Given the description of an element on the screen output the (x, y) to click on. 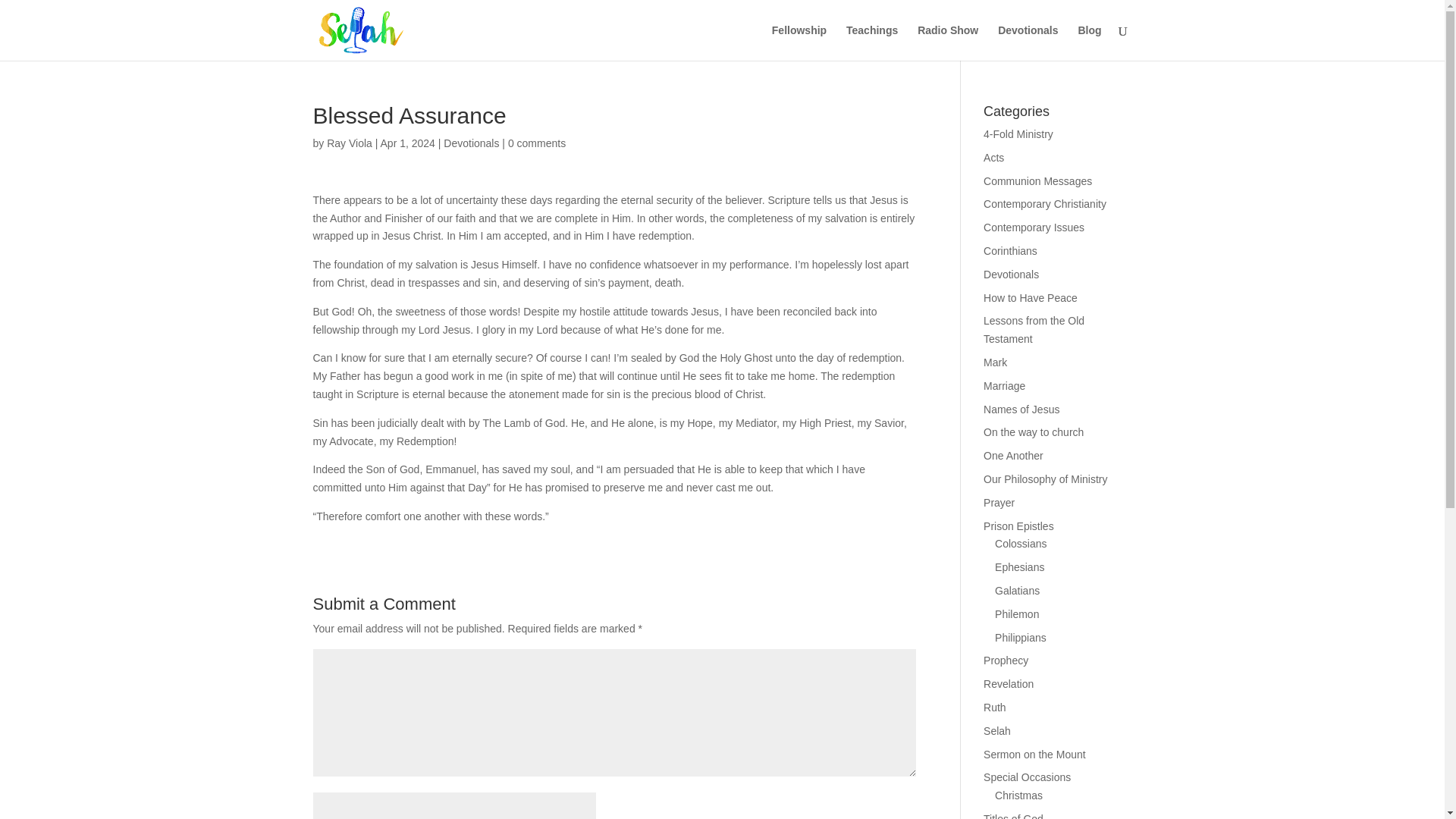
Radio Show (947, 42)
Galatians (1016, 590)
Ray Viola (349, 143)
Devotionals (1027, 42)
Ephesians (1018, 567)
Prison Epistles (1019, 526)
Our Philosophy of Ministry (1045, 479)
How to Have Peace (1030, 297)
Contemporary Issues (1034, 227)
One Another (1013, 455)
Devotionals (471, 143)
Acts (994, 157)
Communion Messages (1038, 181)
4-Fold Ministry (1018, 133)
0 comments (537, 143)
